Given the description of an element on the screen output the (x, y) to click on. 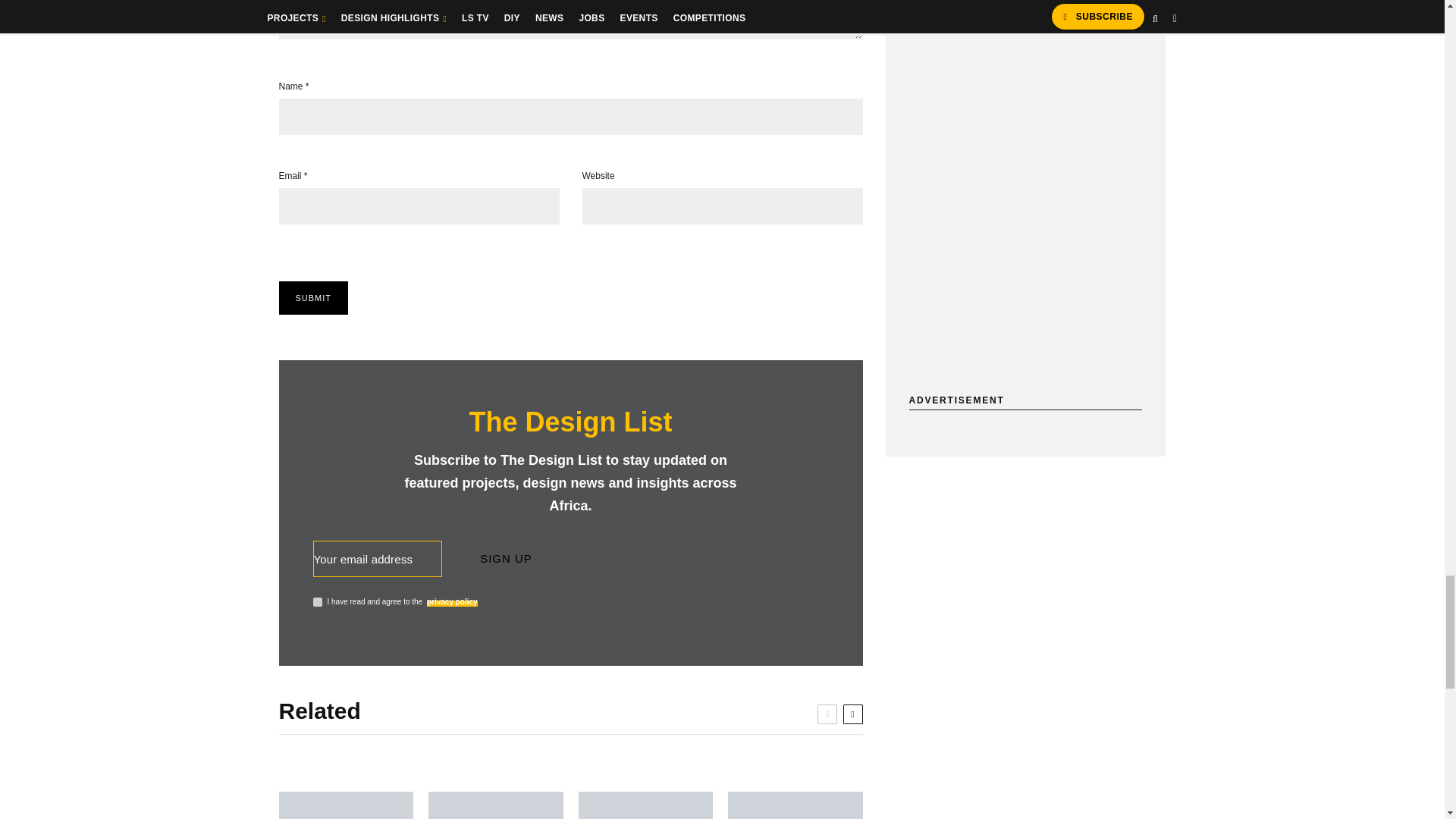
Submit (314, 297)
